Given the description of an element on the screen output the (x, y) to click on. 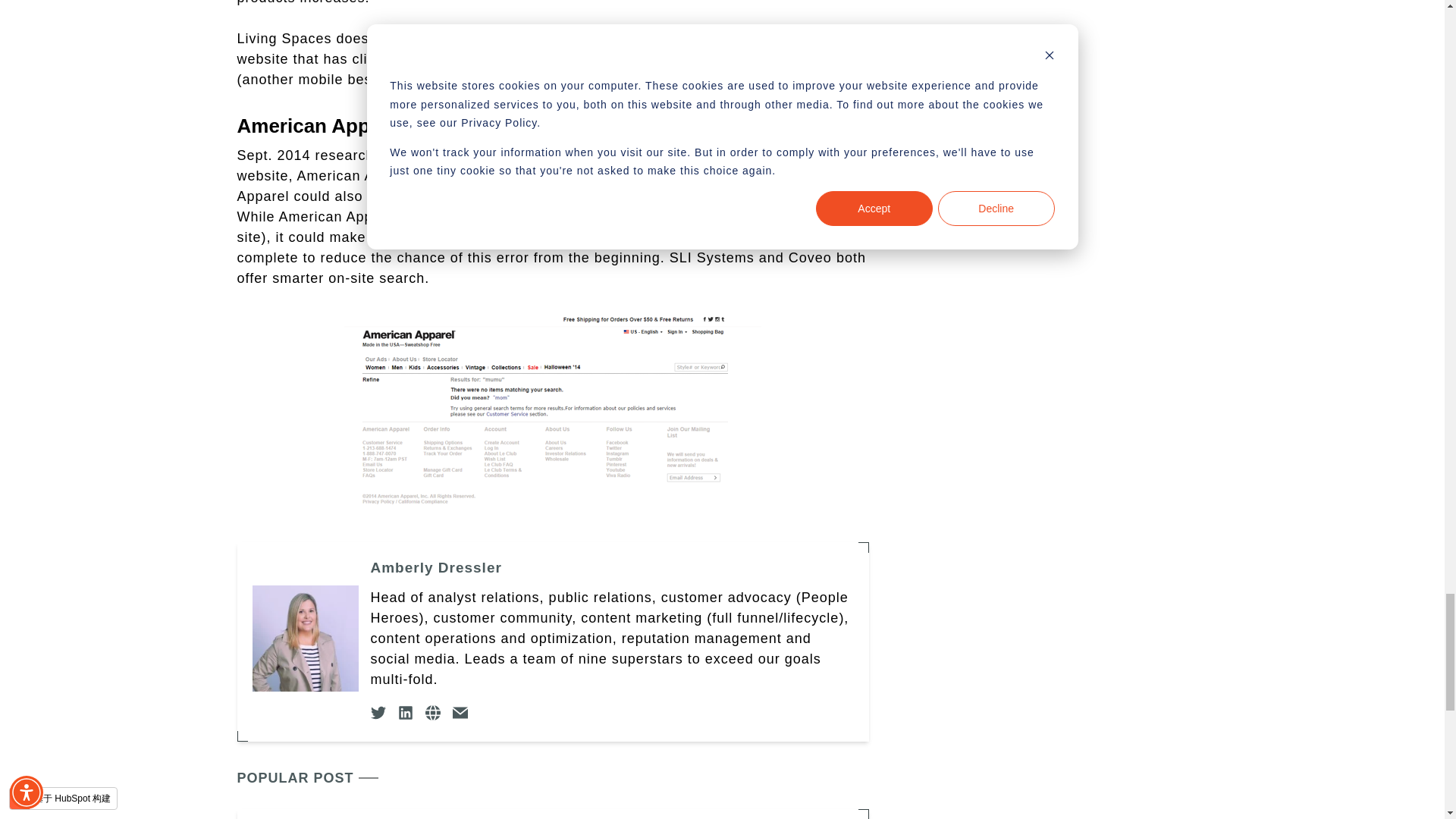
Amberly Dressler (611, 567)
